Given the description of an element on the screen output the (x, y) to click on. 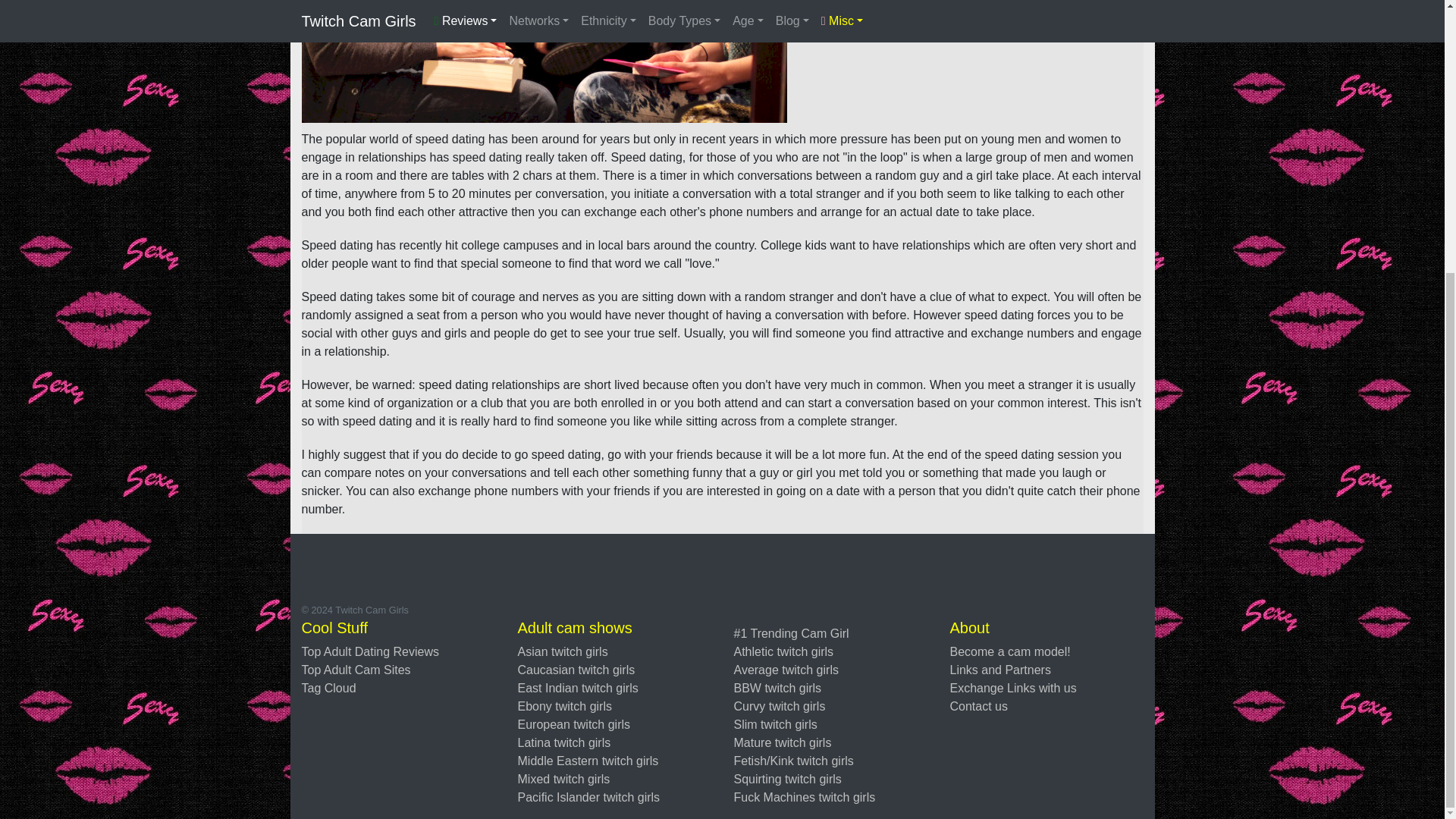
Browse caucasian twitch girls on Twitch Cam Girls (575, 669)
Browse east indian twitch girls on Twitch Cam Girls (576, 687)
Browse pacific islander twitch girls on Twitch Cam Girls (587, 797)
Browse ebony twitch girls on Twitch Cam Girls (563, 706)
Browse european twitch girls on Twitch Cam Girls (573, 724)
Twitch Cam Girls - Top adult dating site reviews (370, 651)
Browse latina twitch girls on Twitch Cam Girls (563, 742)
Browse mixed twitch girls on Twitch Cam Girls (563, 779)
Twitch Cam Girls's top sex cam site reviews (355, 669)
Top trending cam girl on Twitch Cam Girls (790, 633)
Browse average sex twitch girls on Twitch Cam Girls (785, 669)
Browse athletic sex twitch girls on Twitch Cam Girls (783, 651)
Browse middle eastern twitch girls on Twitch Cam Girls (587, 760)
Browse asian twitch girls on Twitch Cam Girls (561, 651)
